Given the description of an element on the screen output the (x, y) to click on. 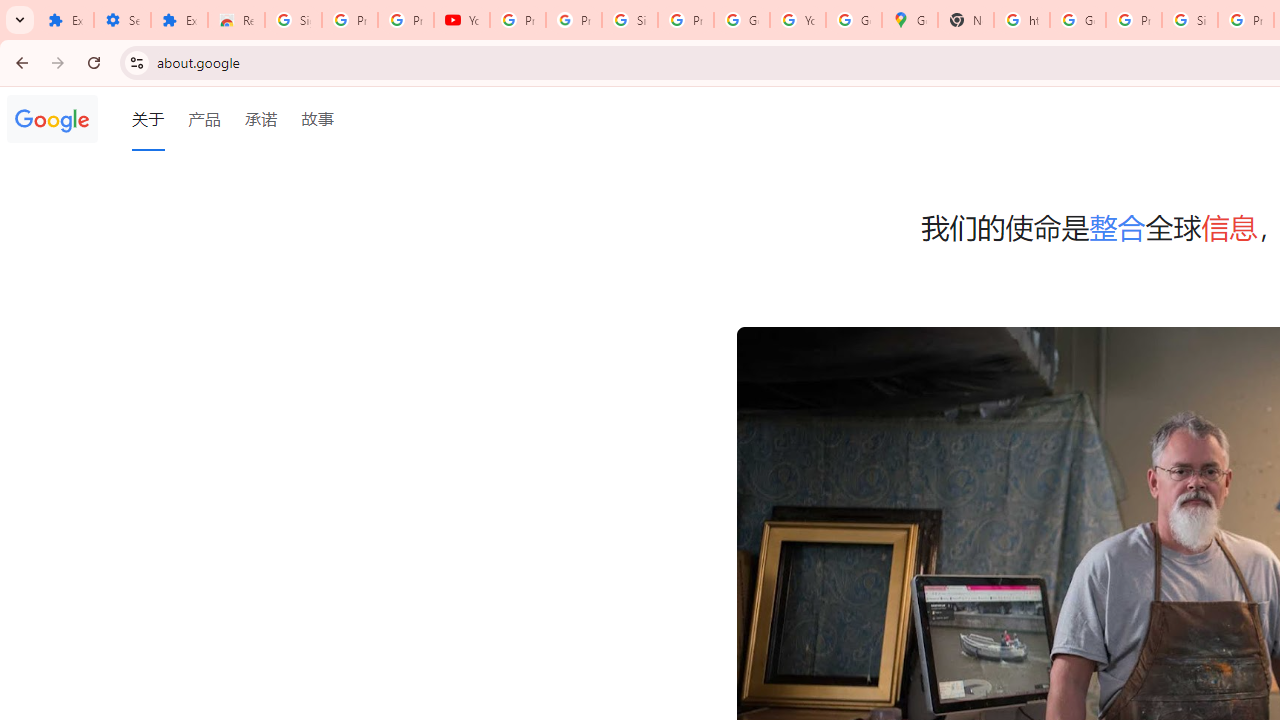
Sign in - Google Accounts (1190, 20)
Sign in - Google Accounts (629, 20)
Google (52, 119)
Sign in - Google Accounts (293, 20)
https://scholar.google.com/ (1021, 20)
YouTube (797, 20)
New Tab (966, 20)
